Given the description of an element on the screen output the (x, y) to click on. 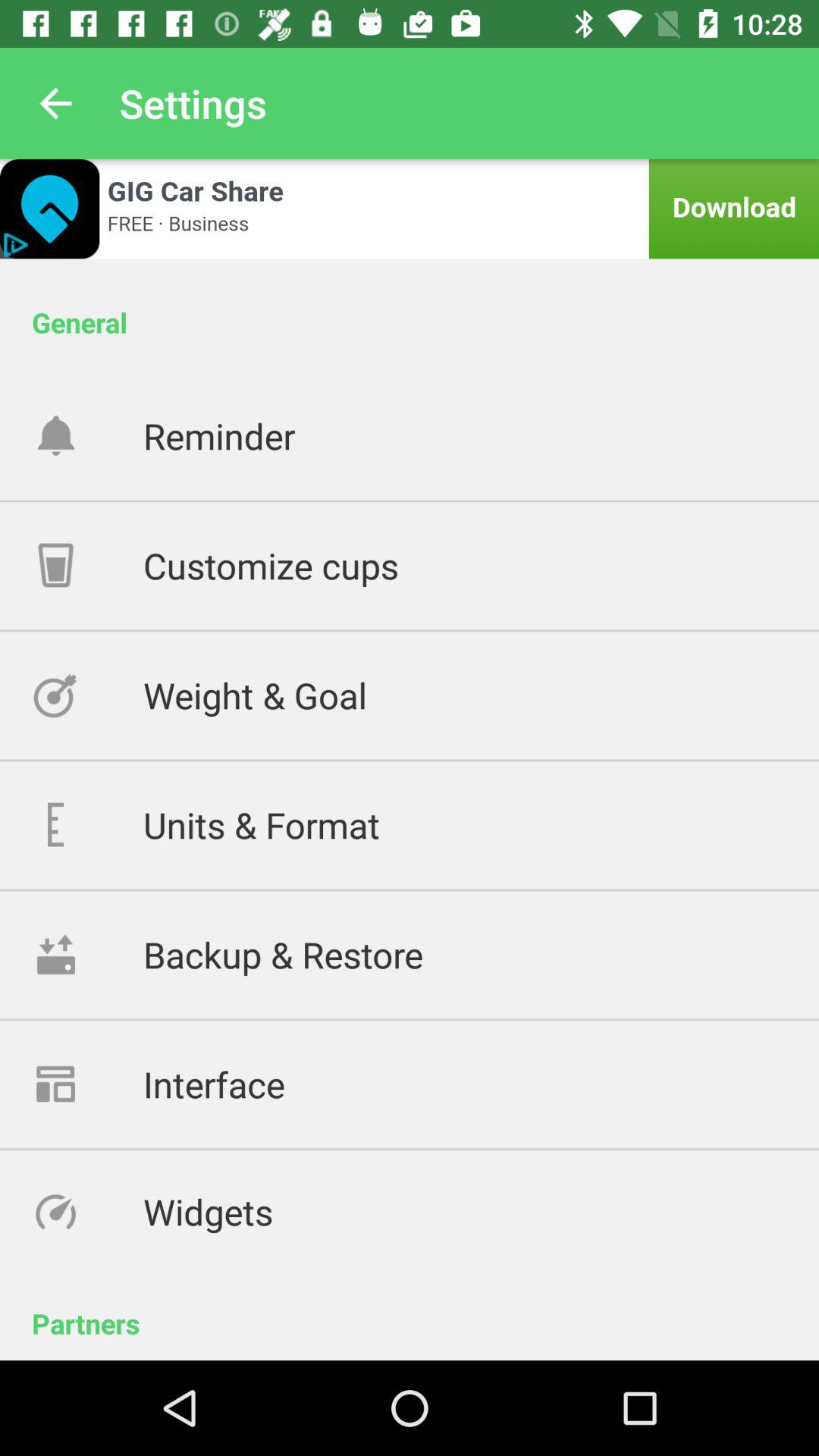
select icon at the top (409, 208)
